Given the description of an element on the screen output the (x, y) to click on. 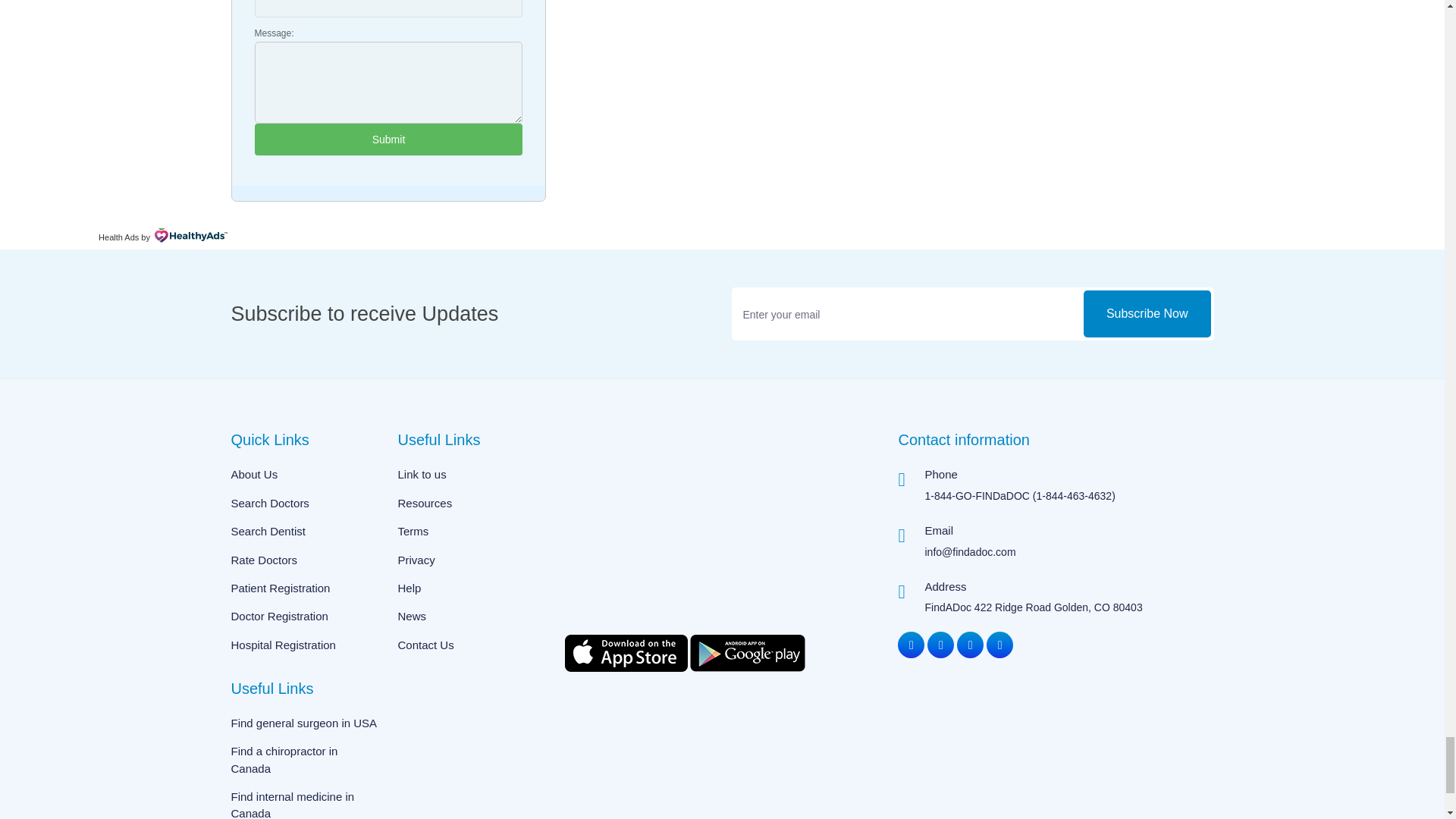
Submit (388, 139)
